Given the description of an element on the screen output the (x, y) to click on. 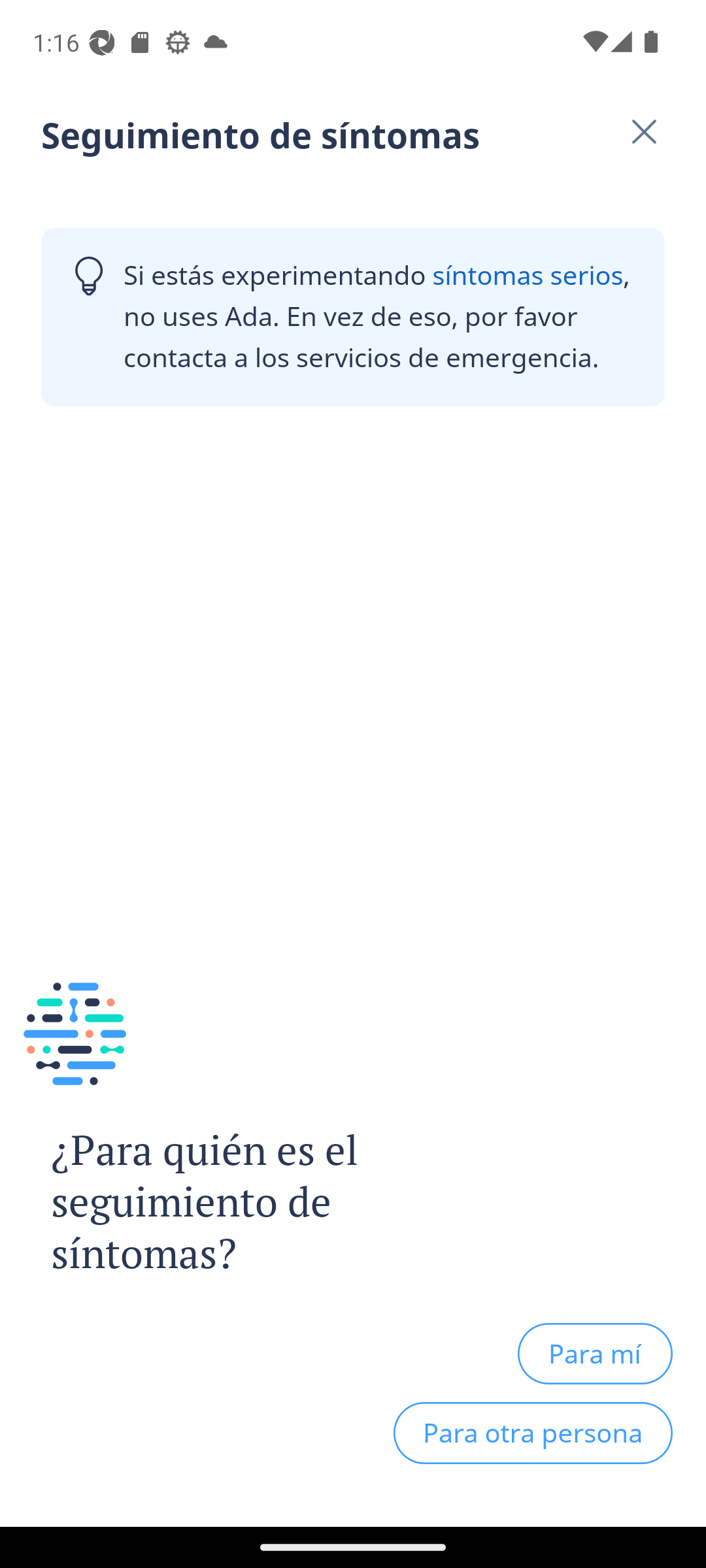
¿Para quién es el seguimiento de síntomas? (240, 1202)
Para mí (594, 1352)
Para otra persona (532, 1432)
